Given the description of an element on the screen output the (x, y) to click on. 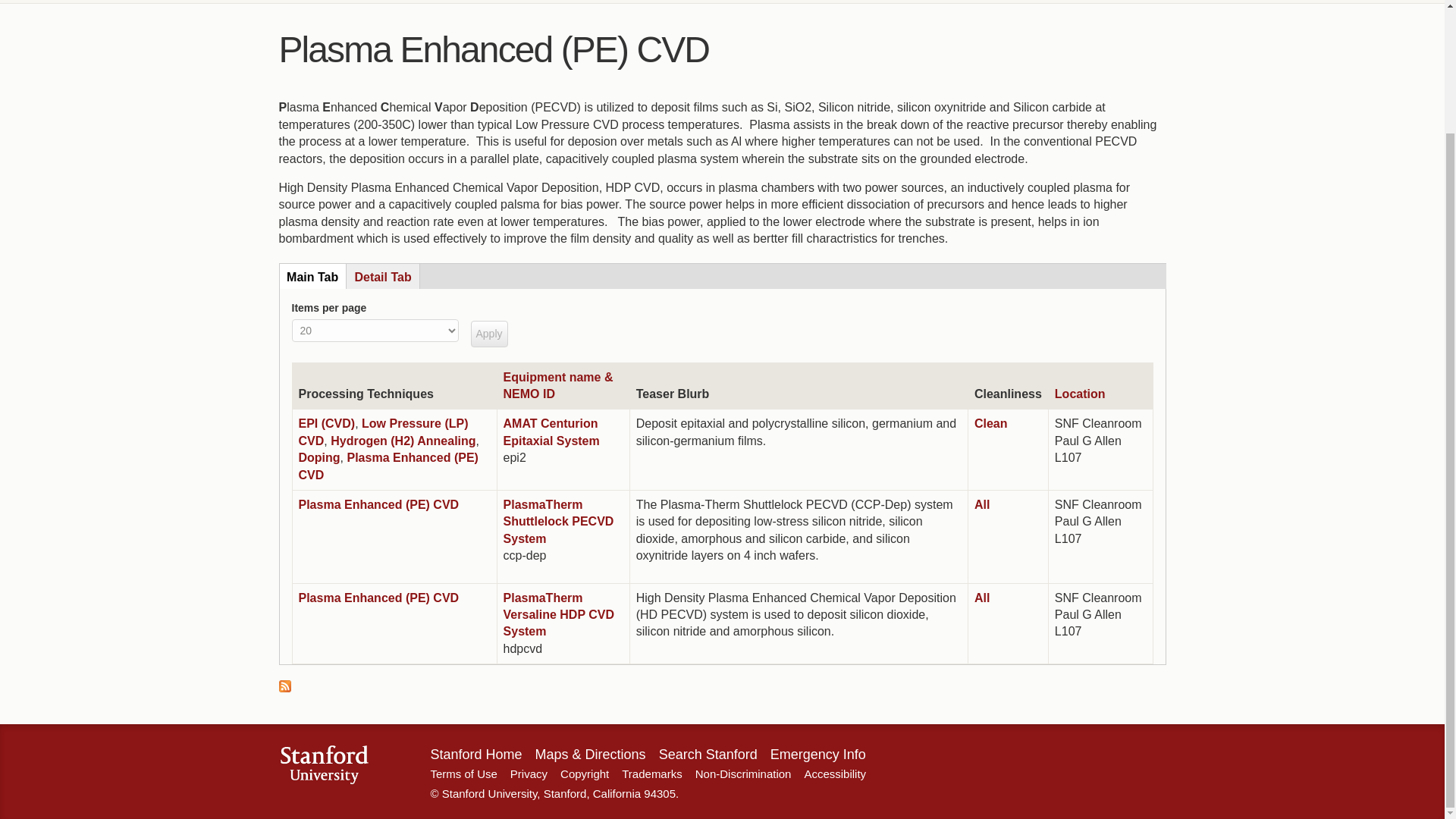
Report alleged copyright infringement (743, 773)
PlasmaTherm Shuttlelock PECVD System (558, 521)
All (982, 597)
Doping (319, 457)
Report alleged copyright infringement (834, 773)
All (982, 504)
PlasmaTherm Versaline HDP CVD System (558, 614)
AMAT Centurion Epitaxial System (551, 431)
sort by Location (1079, 393)
Privacy and cookie policy (529, 773)
